Given the description of an element on the screen output the (x, y) to click on. 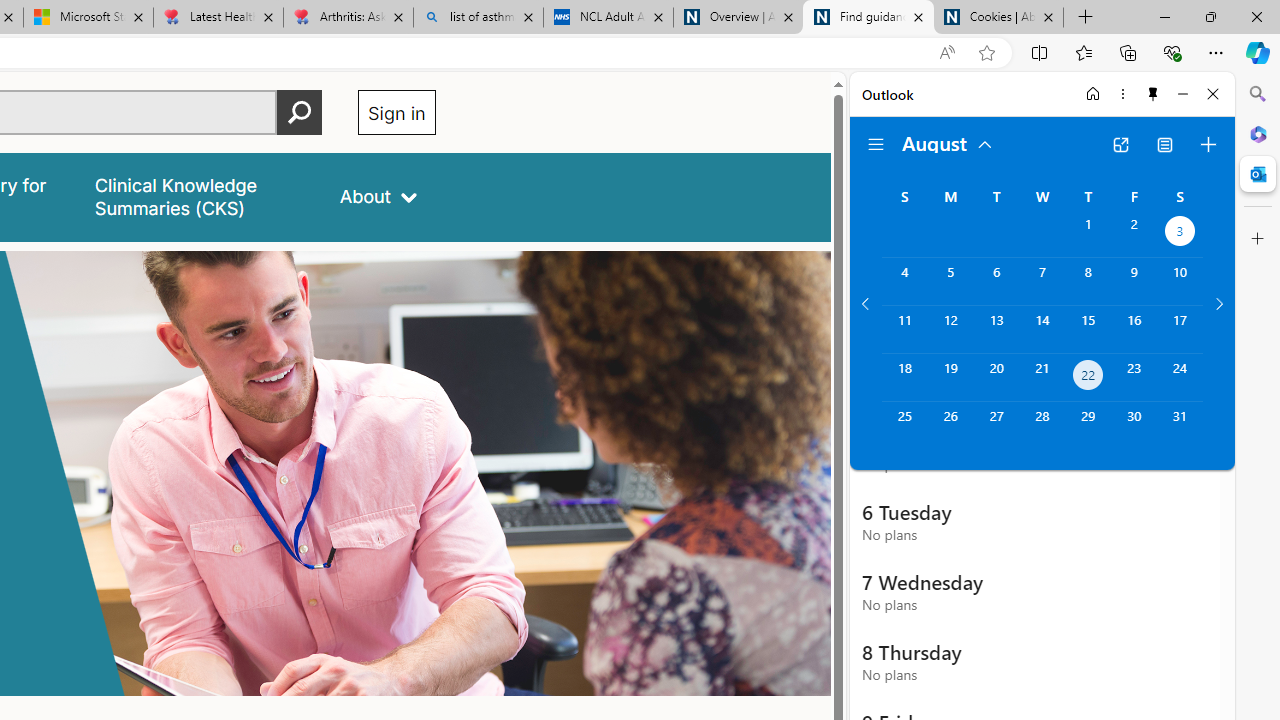
Thursday, August 29, 2024.  (1088, 425)
Cookies | About | NICE (998, 17)
Folder navigation (876, 144)
Find guidance | NICE (868, 17)
Monday, August 12, 2024.  (950, 329)
Create event (1208, 144)
Open in new tab (1120, 144)
Sign in (396, 112)
NCL Adult Asthma Inhaler Choice Guideline (608, 17)
Wednesday, August 28, 2024.  (1042, 425)
